Given the description of an element on the screen output the (x, y) to click on. 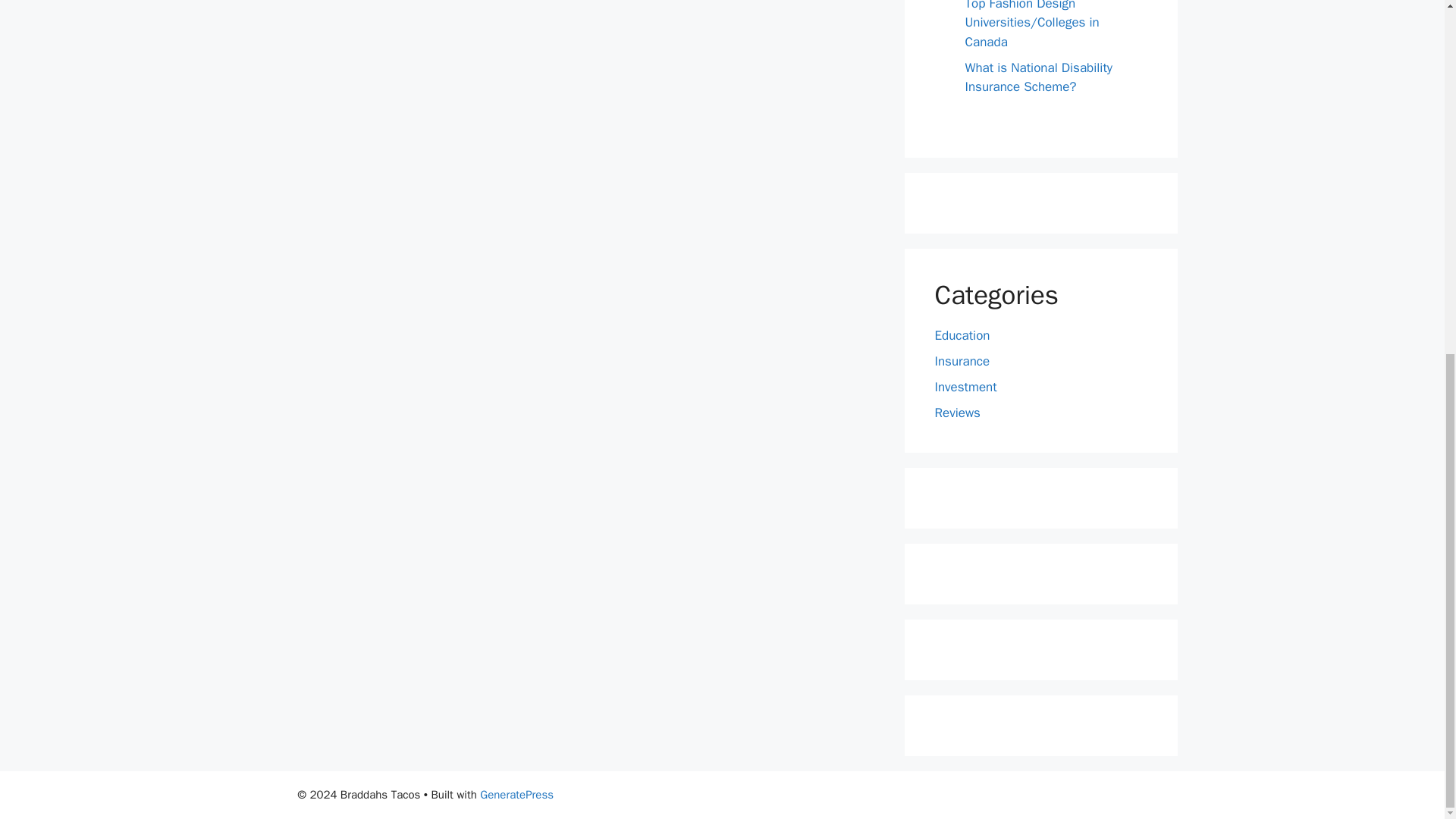
Reviews (956, 412)
Education (962, 334)
Investment (964, 385)
Insurance (962, 360)
What is National Disability Insurance Scheme? (1037, 77)
GeneratePress (516, 794)
